Given the description of an element on the screen output the (x, y) to click on. 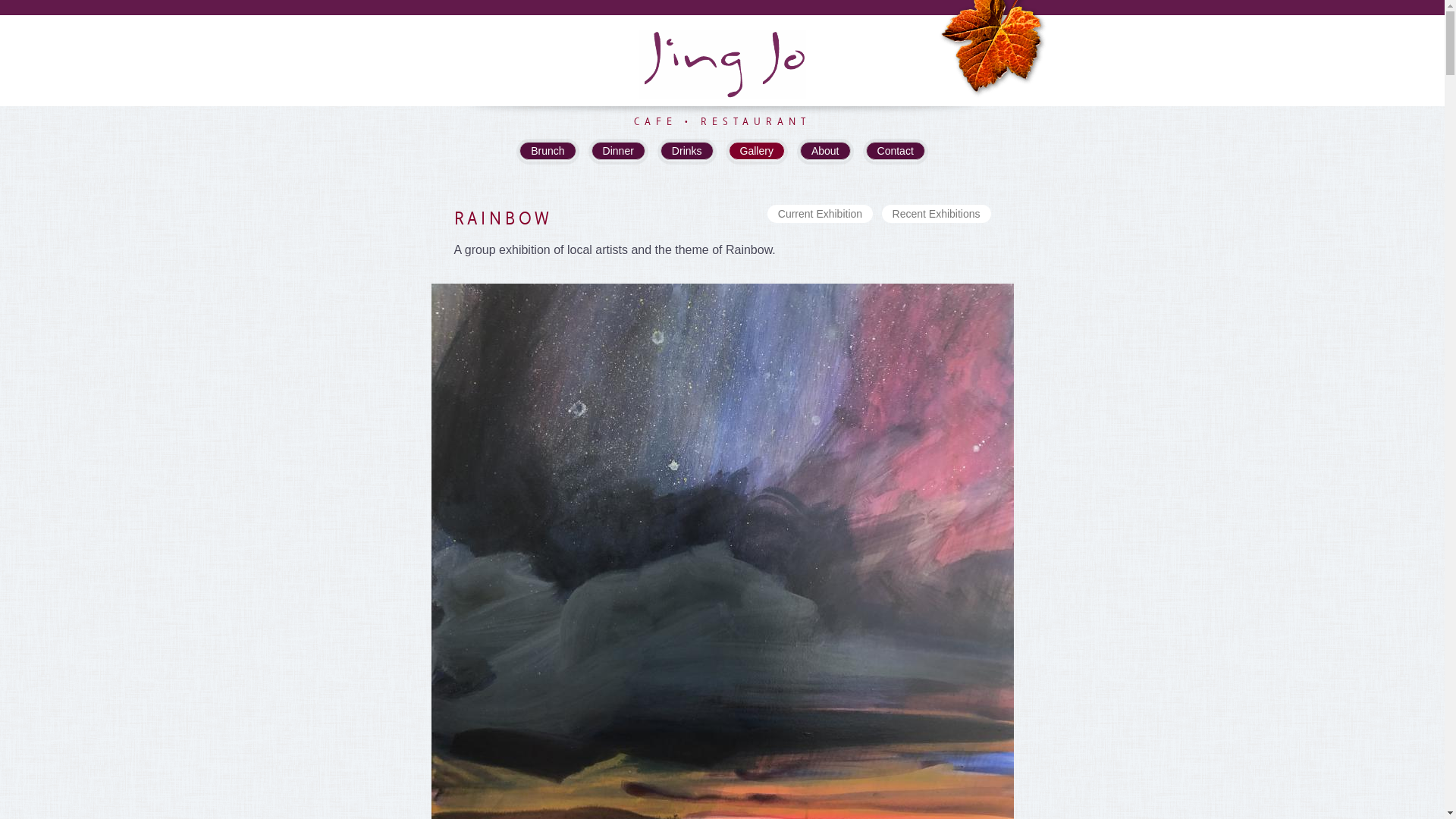
Gallery Element type: text (756, 150)
About Element type: text (825, 150)
Brunch Element type: text (547, 150)
Current Exhibition Element type: text (819, 213)
Drinks Element type: text (686, 150)
Recent Exhibitions Element type: text (936, 213)
Dinner Element type: text (618, 150)
Contact Element type: text (895, 150)
Jing Jo Element type: text (721, 49)
